Given the description of an element on the screen output the (x, y) to click on. 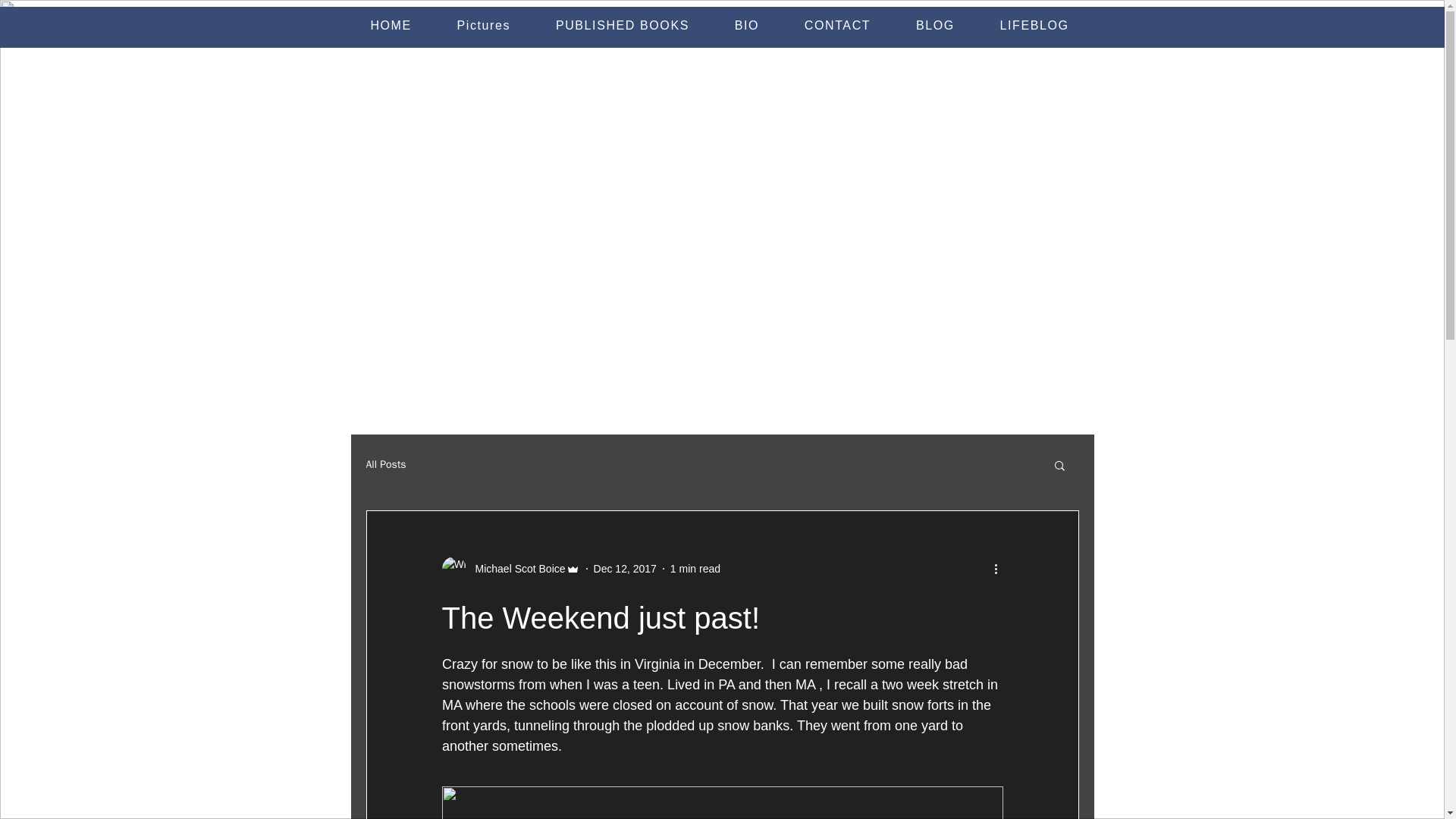
LIFEBLOG (1034, 25)
1 min read (694, 568)
BIO (746, 25)
Michael Scot Boice (514, 569)
Dec 12, 2017 (625, 568)
BLOG (935, 25)
PUBLISHED BOOKS (622, 25)
Pictures (483, 25)
CONTACT (836, 25)
HOME (390, 25)
